Given the description of an element on the screen output the (x, y) to click on. 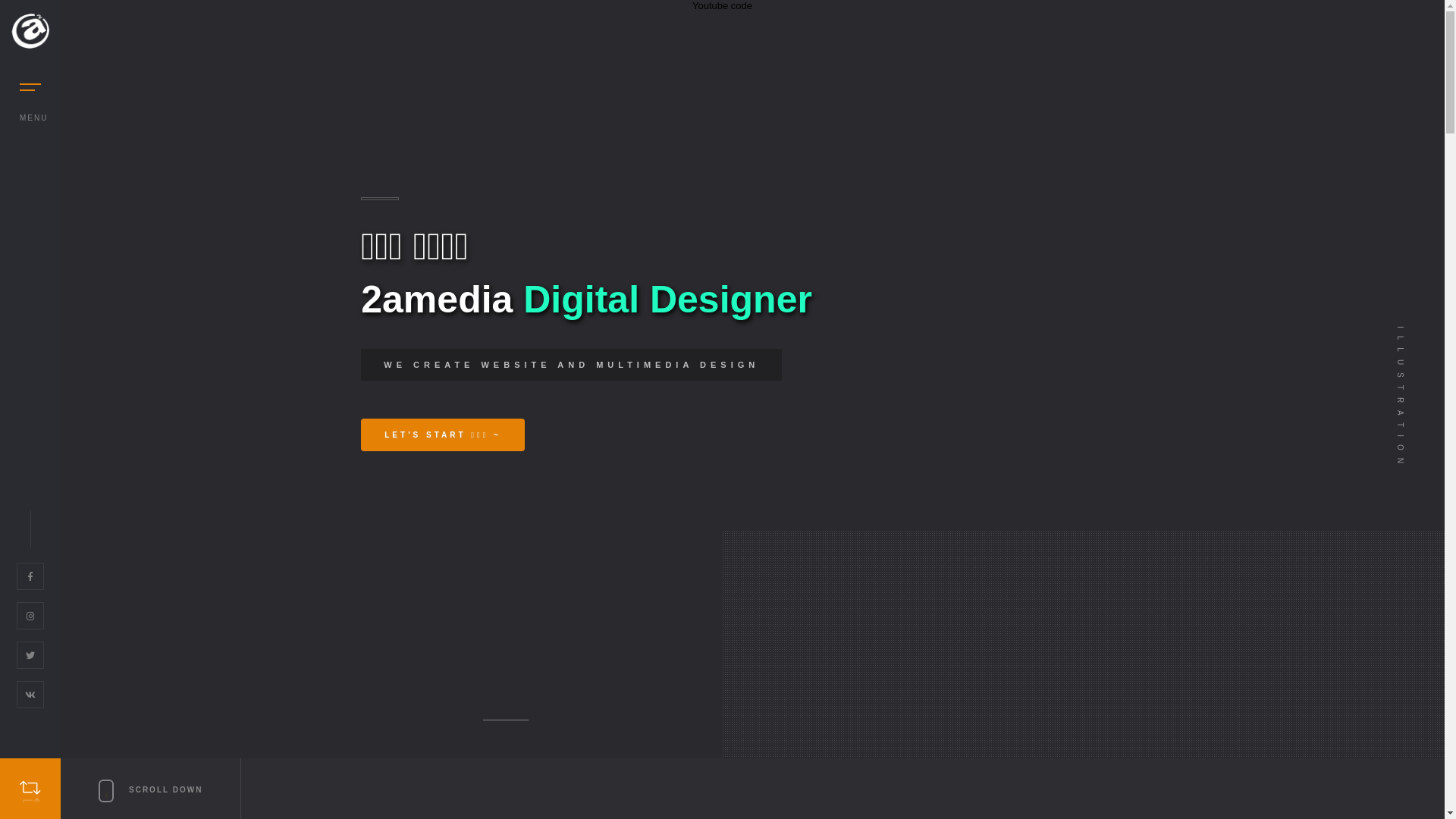
+886-2-26498566 Element type: text (564, 580)
WWW.2AMEDIA.COM Element type: text (585, 622)
2A@2AMEDIA.COM Element type: text (565, 644)
97293024 Element type: text (574, 537)
+886-2-26485358 Element type: text (548, 601)
